Given the description of an element on the screen output the (x, y) to click on. 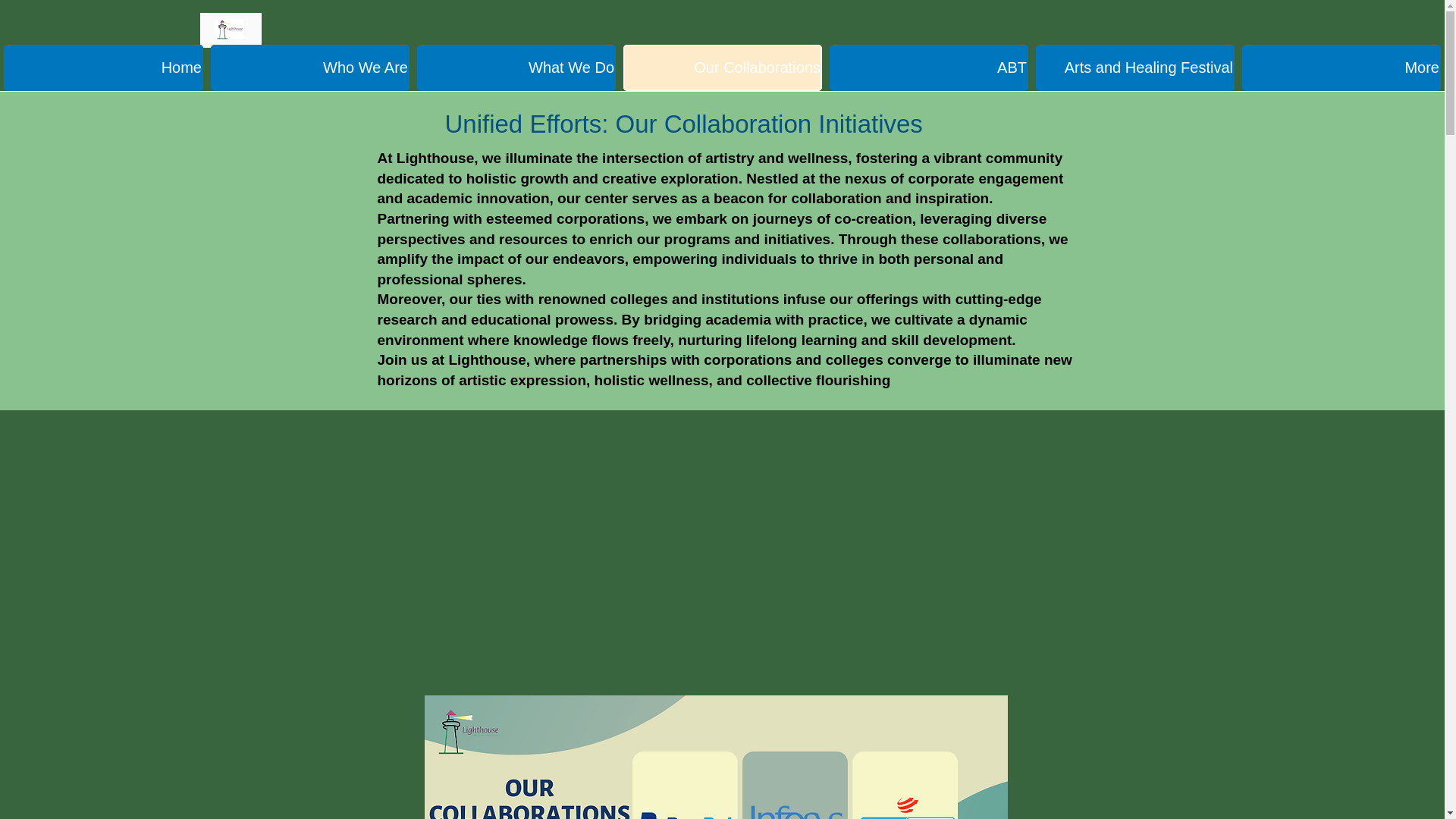
Who We Are (310, 67)
Home (103, 67)
Arts and Healing Festival (1134, 67)
ABT (928, 67)
What We Do (515, 67)
Our Collaborations (722, 67)
